Given the description of an element on the screen output the (x, y) to click on. 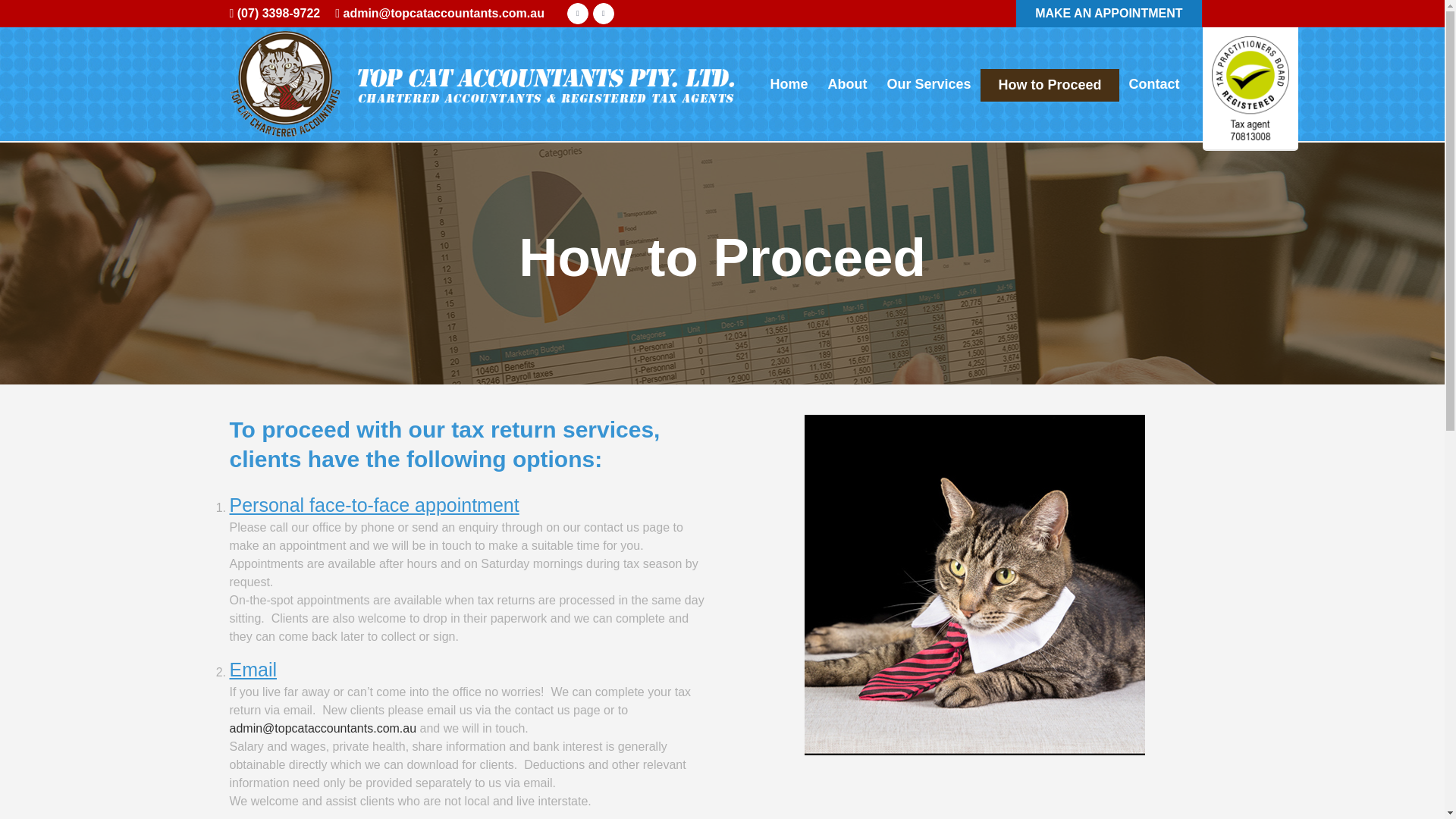
Our Services (927, 83)
How to Proceed (1048, 83)
MAKE AN APPOINTMENT (1108, 12)
